Given the description of an element on the screen output the (x, y) to click on. 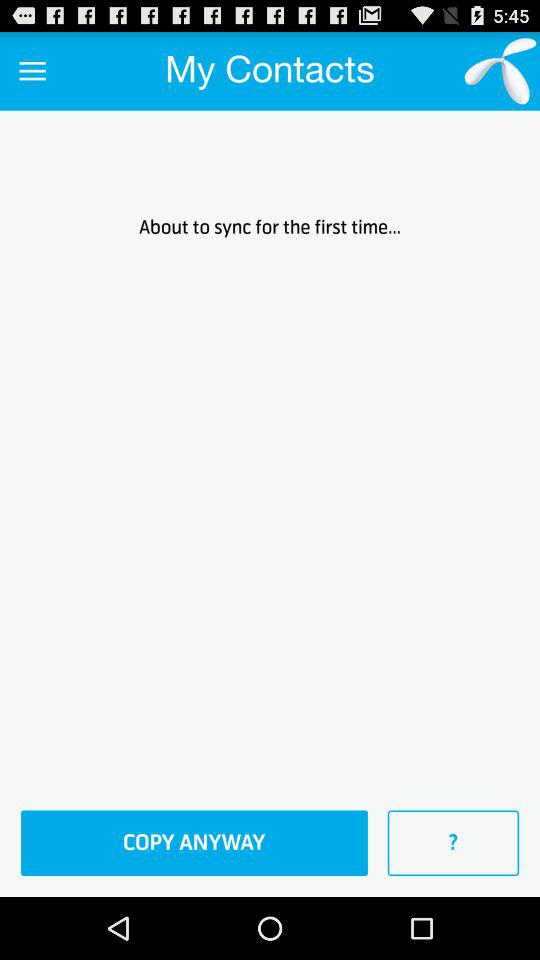
click the  ?  icon (453, 843)
